Given the description of an element on the screen output the (x, y) to click on. 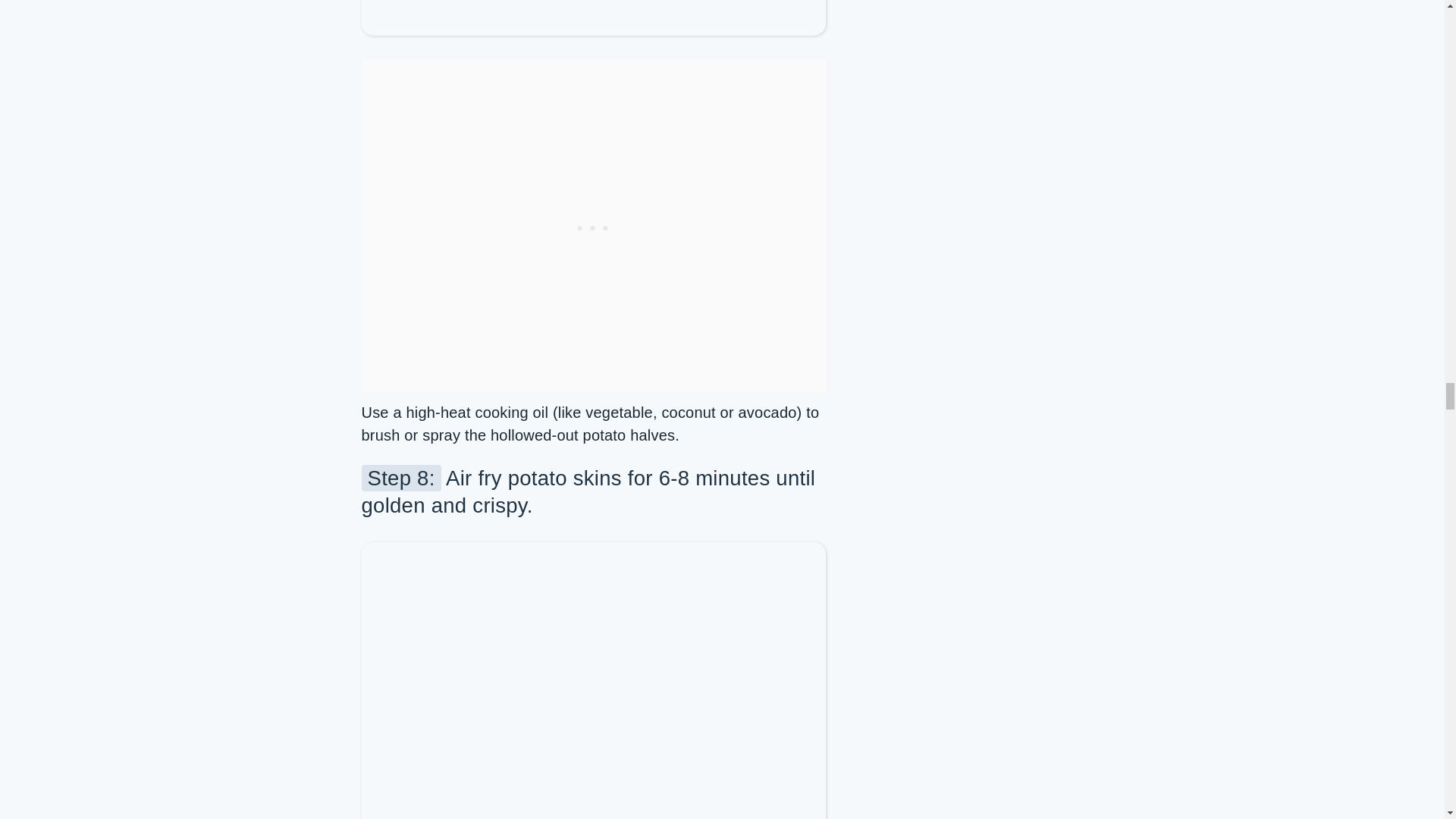
Crispy potato skins in the air fryer before adding toppings (593, 779)
